Given the description of an element on the screen output the (x, y) to click on. 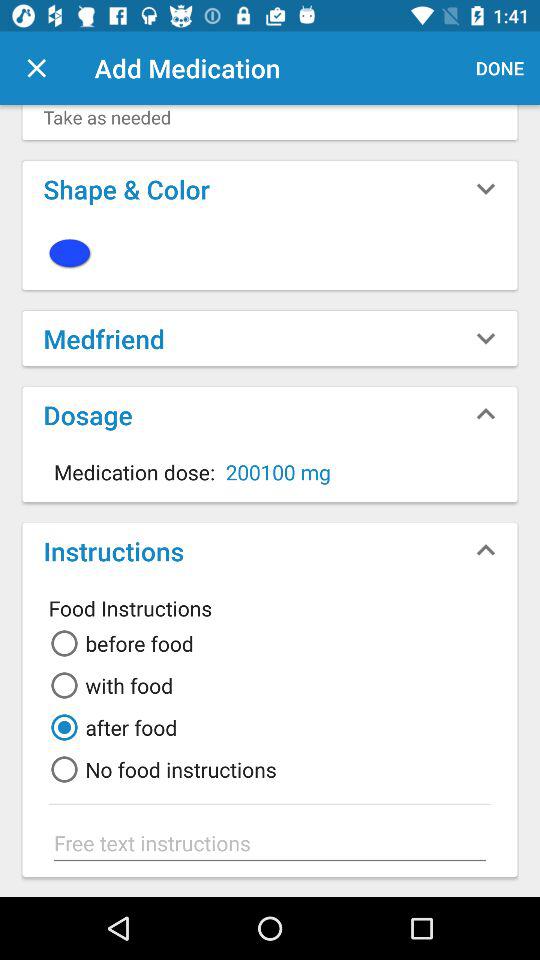
choose the icon below before food item (108, 685)
